Given the description of an element on the screen output the (x, y) to click on. 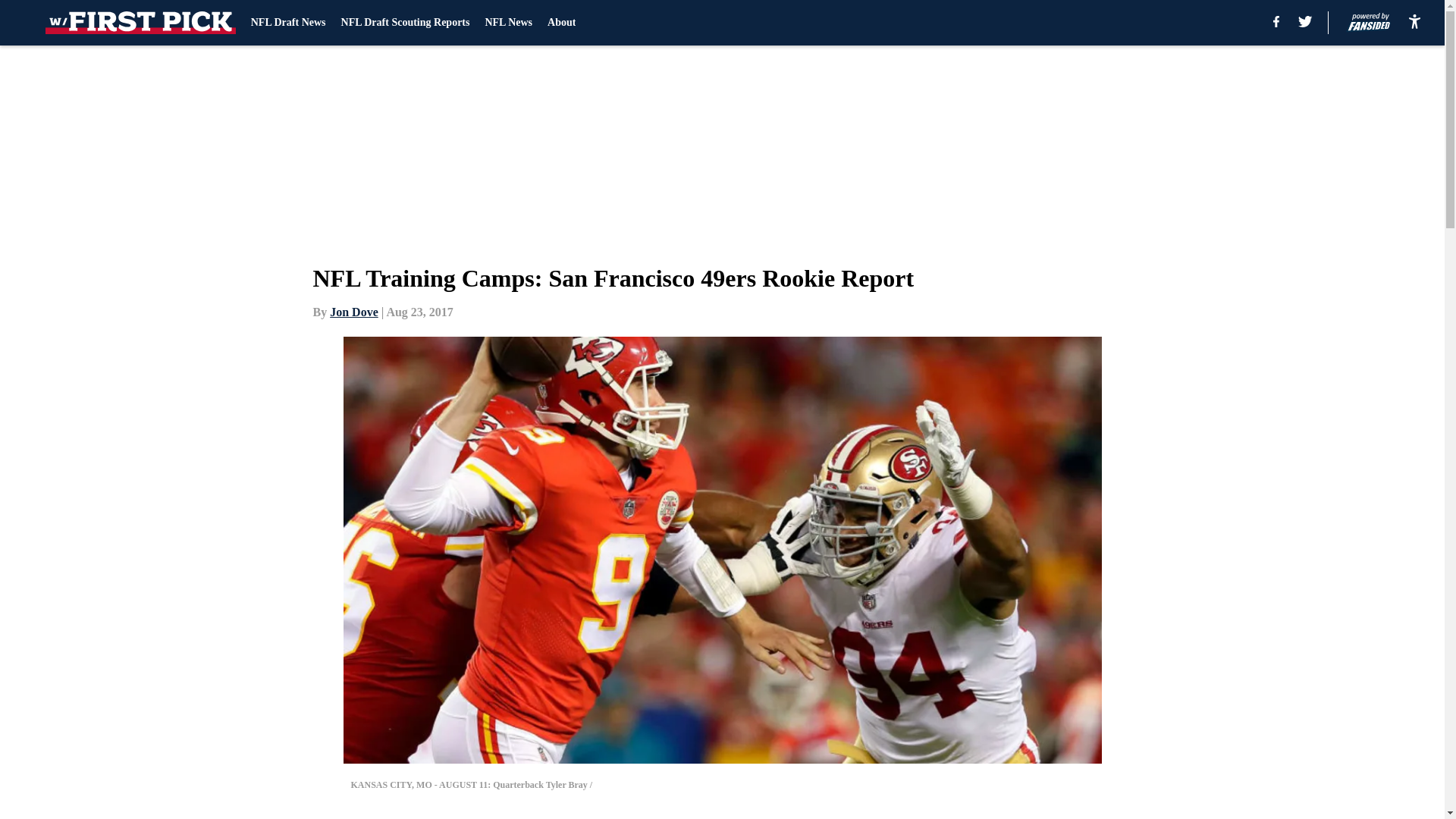
Jon Dove (354, 311)
NFL News (508, 22)
NFL Draft News (288, 22)
NFL Draft Scouting Reports (405, 22)
About (561, 22)
